Given the description of an element on the screen output the (x, y) to click on. 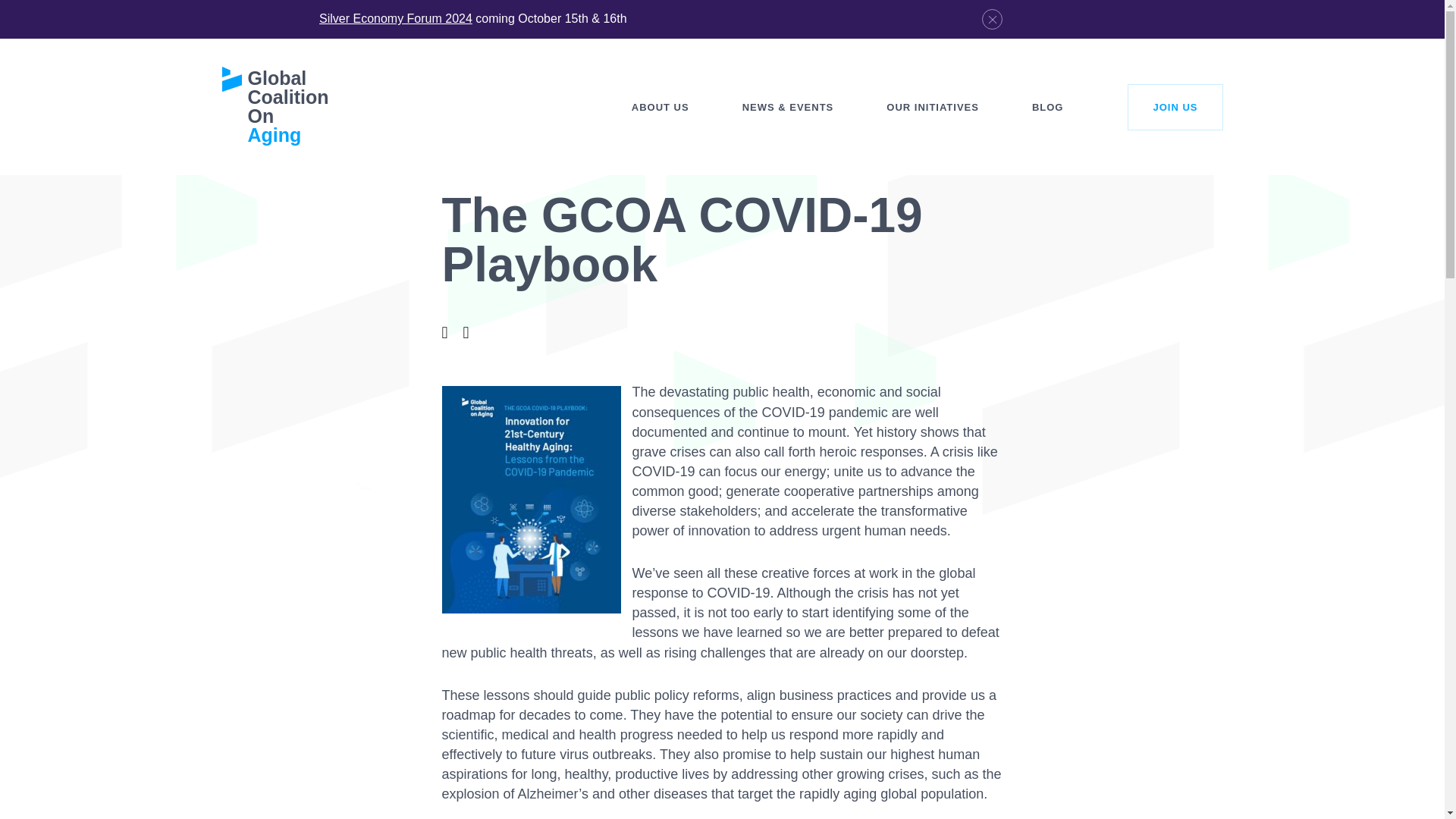
BLOG (1047, 106)
OUR INITIATIVES (932, 106)
Silver Economy Forum 2024 (394, 18)
JOIN US (1174, 106)
Global Coalition On Aging (274, 106)
ABOUT US (660, 106)
